Given the description of an element on the screen output the (x, y) to click on. 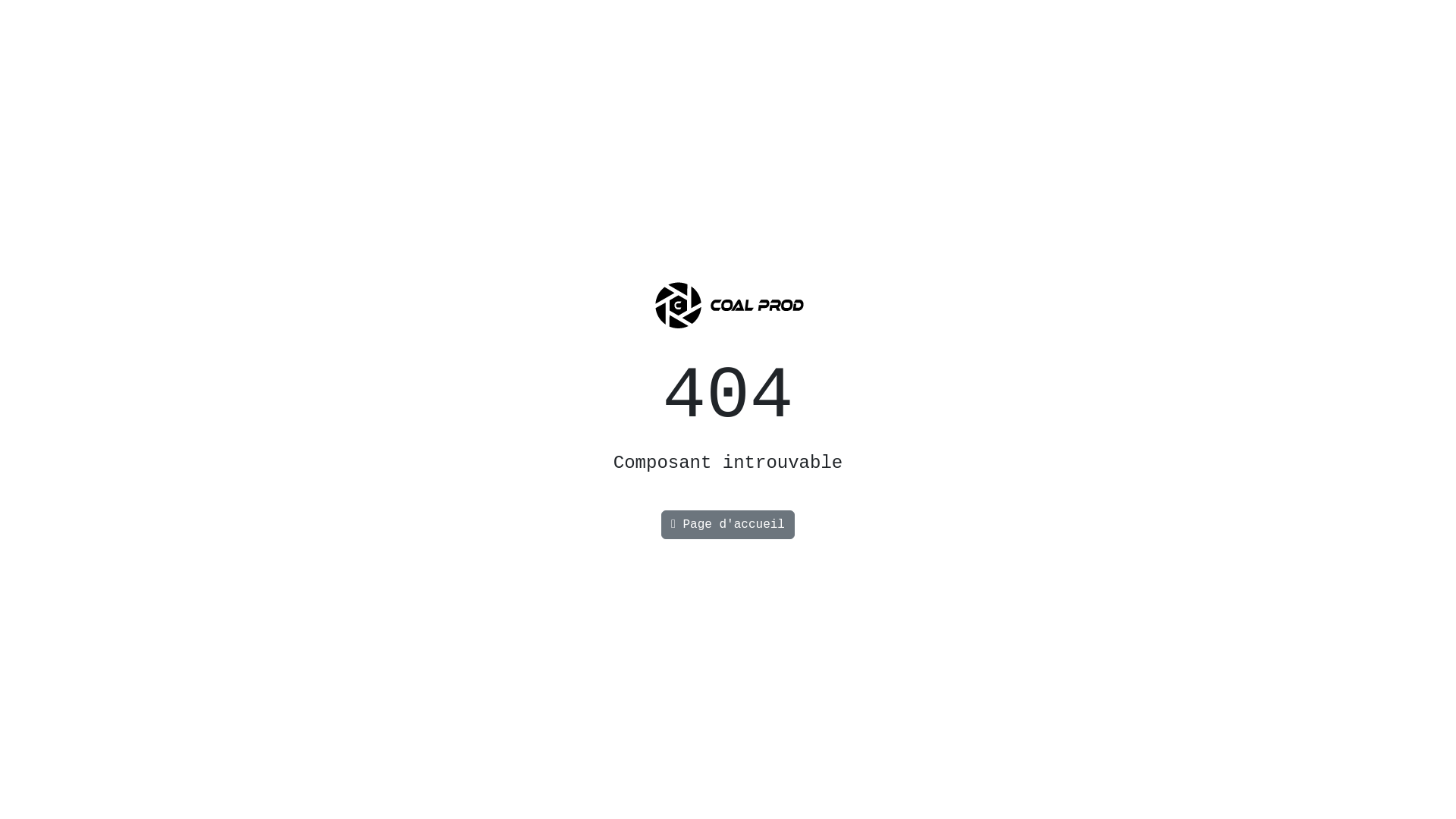
Page d'accueil Element type: text (727, 524)
